Given the description of an element on the screen output the (x, y) to click on. 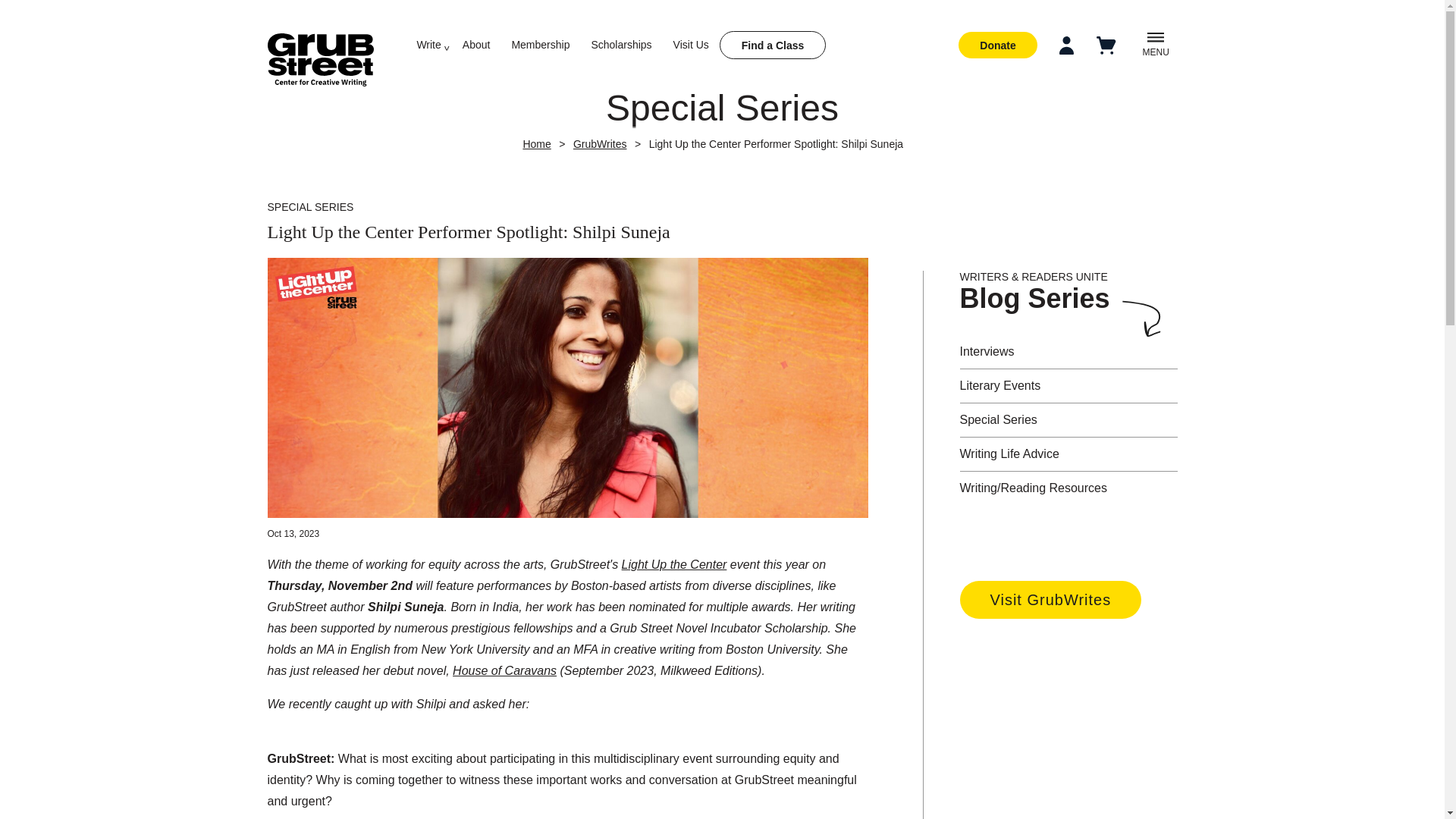
Find a Class (772, 44)
Write (428, 44)
Scholarships (620, 44)
Membership (540, 44)
Visit Us (690, 44)
About (476, 44)
Donate (997, 44)
